Given the description of an element on the screen output the (x, y) to click on. 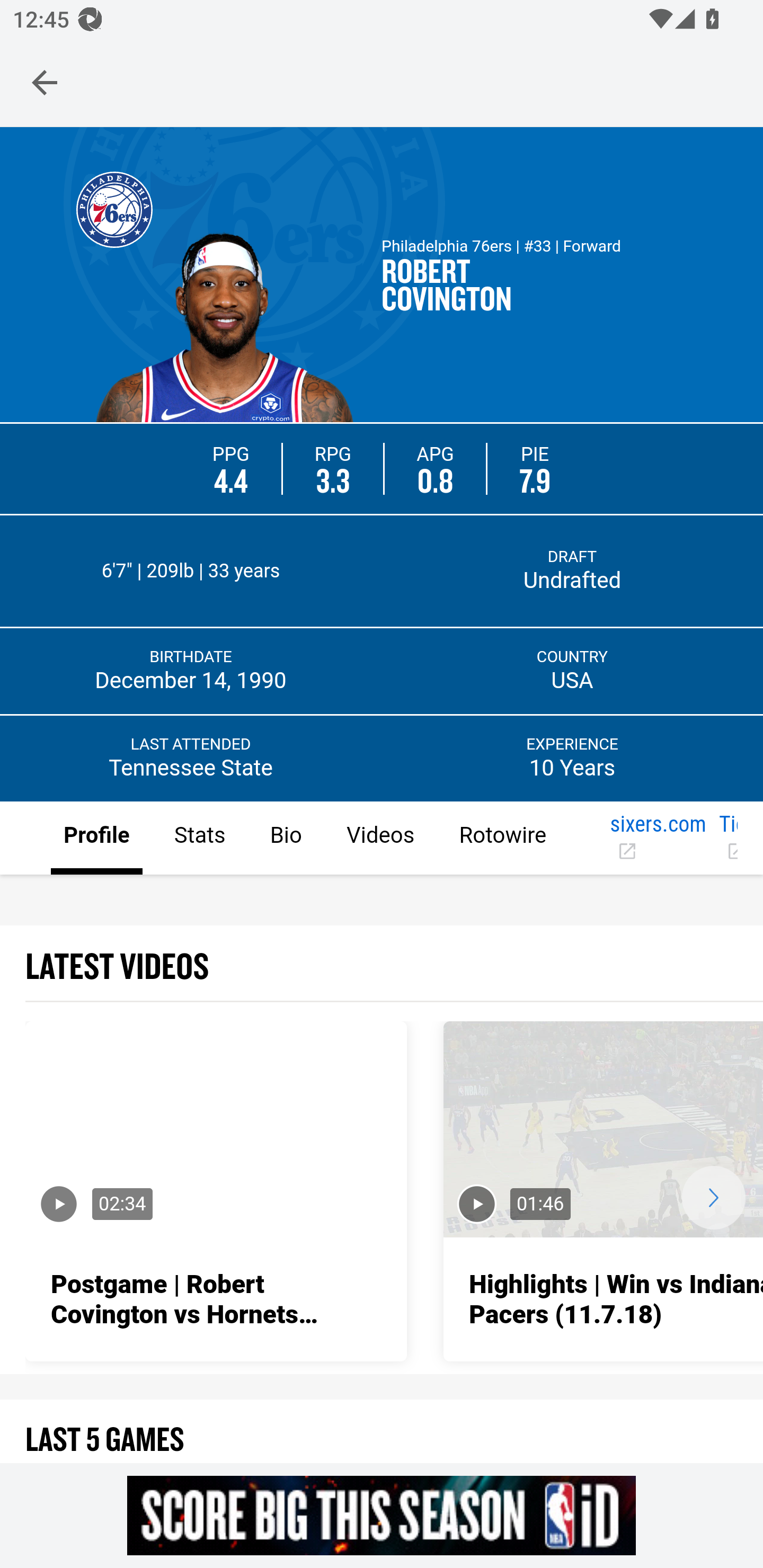
Navigate up (44, 82)
Philadelphia 76ers Logo (114, 209)
Profile (97, 838)
Stats (199, 838)
Bio (284, 838)
Videos (379, 838)
Rotowire (501, 838)
sixers.com (657, 838)
Carousel Button (713, 1197)
